Given the description of an element on the screen output the (x, y) to click on. 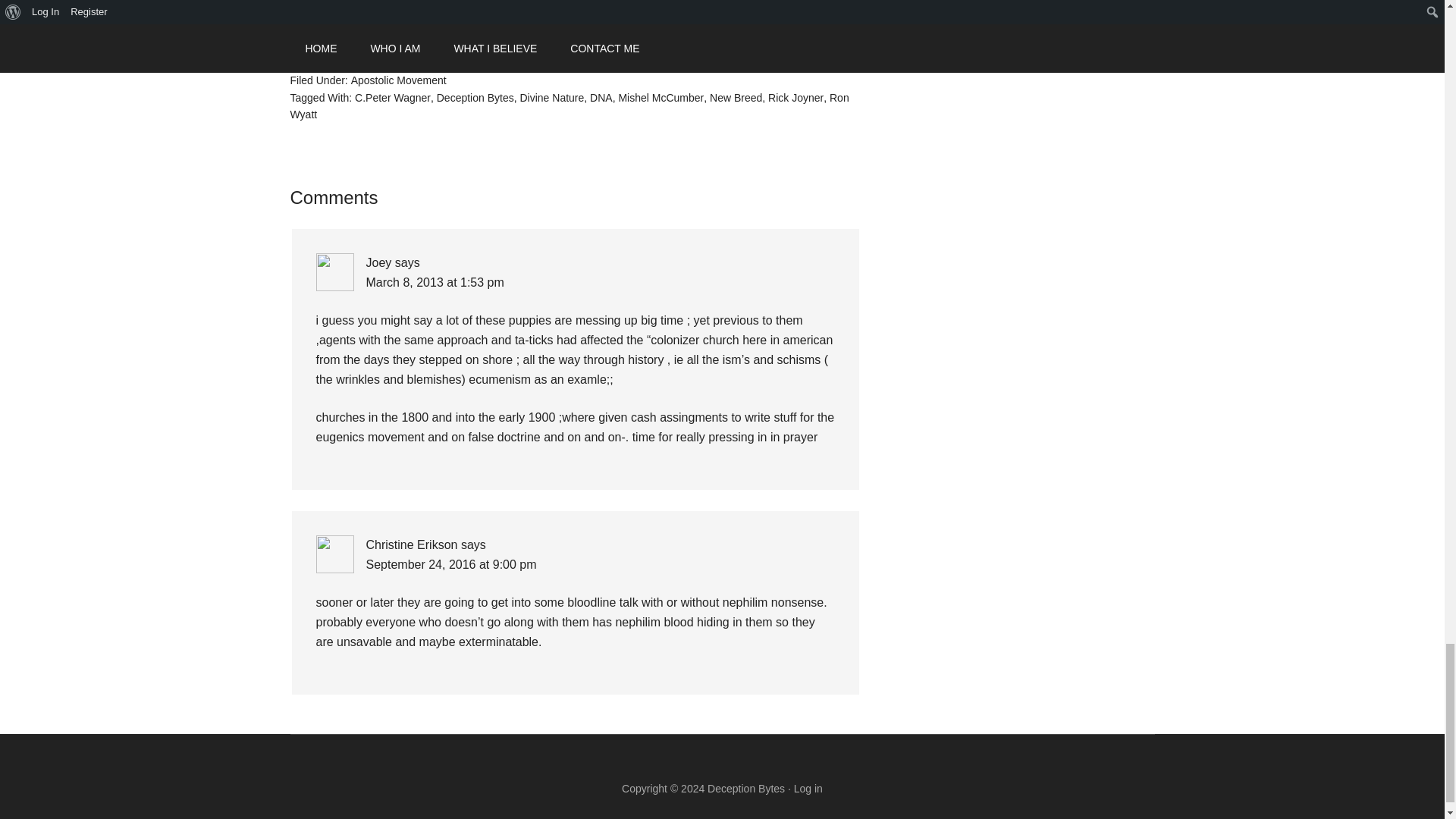
New Breed (735, 97)
Deception Bytes (474, 97)
Christine Erikson (411, 544)
DNA (600, 97)
C.Peter Wagner (392, 97)
Ron Wyatt (568, 106)
September 24, 2016 at 9:00 pm (450, 563)
March 8, 2013 at 1:53 pm (434, 282)
Apostolic Movement (398, 80)
Rick Joyner (796, 97)
Mishel McCumber (660, 97)
Divine Nature (551, 97)
